Given the description of an element on the screen output the (x, y) to click on. 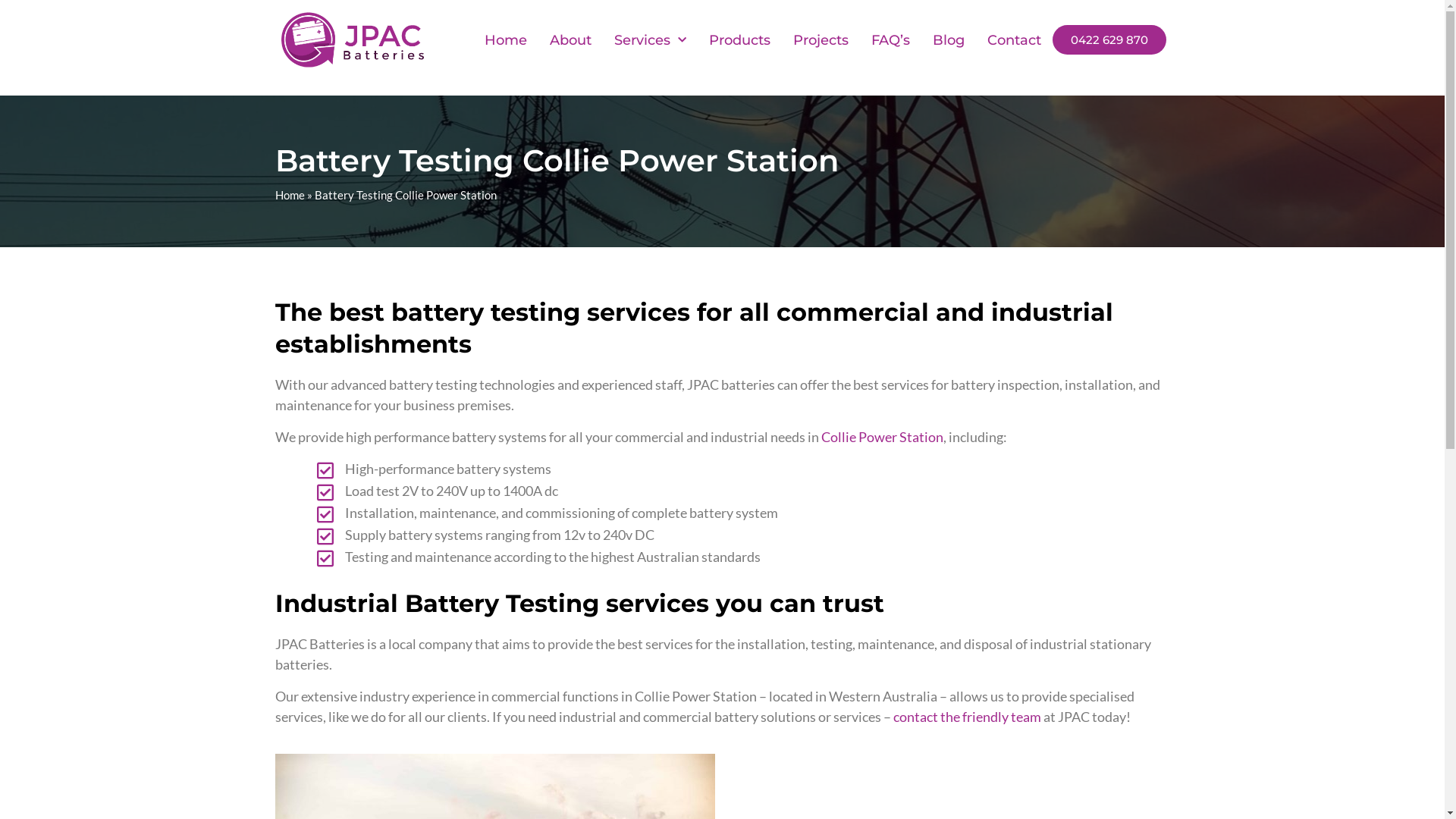
Projects Element type: text (820, 39)
Products Element type: text (739, 39)
Home Element type: text (505, 39)
Contact Element type: text (1013, 39)
Collie Power Station Element type: text (881, 436)
Blog Element type: text (948, 39)
contact the friendly team Element type: text (967, 716)
About Element type: text (570, 39)
Services Element type: text (649, 39)
Home Element type: text (289, 194)
0422 629 870 Element type: text (1109, 39)
